Given the description of an element on the screen output the (x, y) to click on. 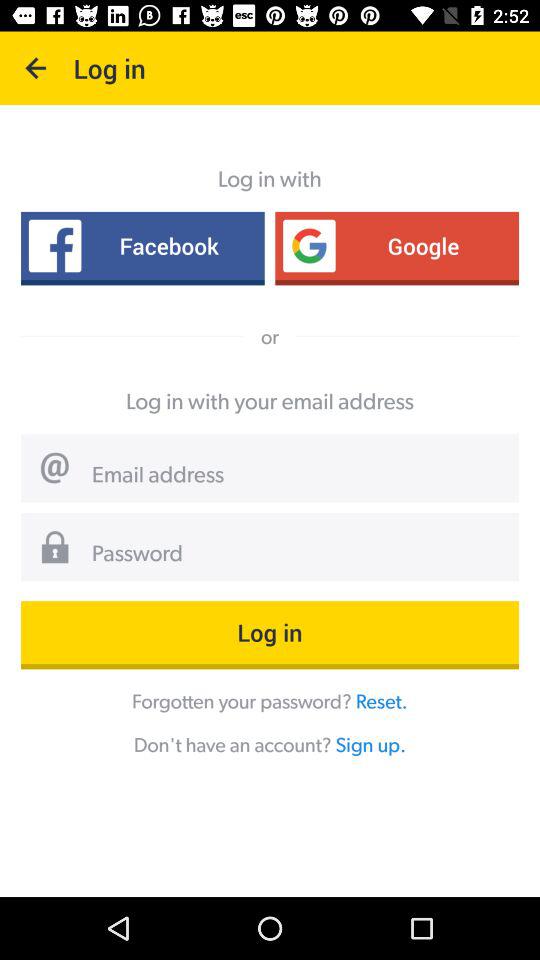
flip until sign up. icon (370, 744)
